Given the description of an element on the screen output the (x, y) to click on. 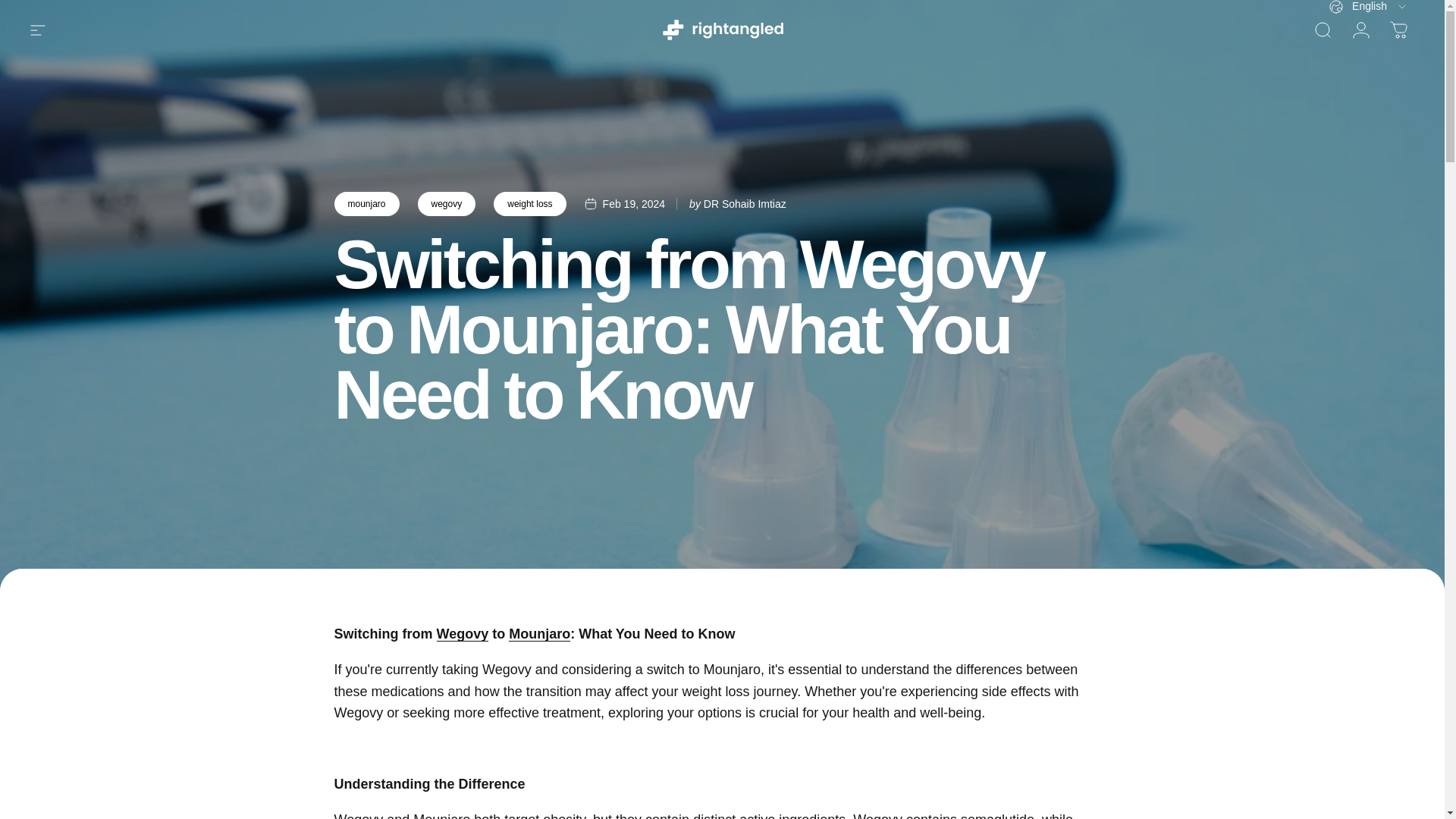
English (1368, 6)
Rightangled (722, 29)
Site navigation (45, 29)
